Given the description of an element on the screen output the (x, y) to click on. 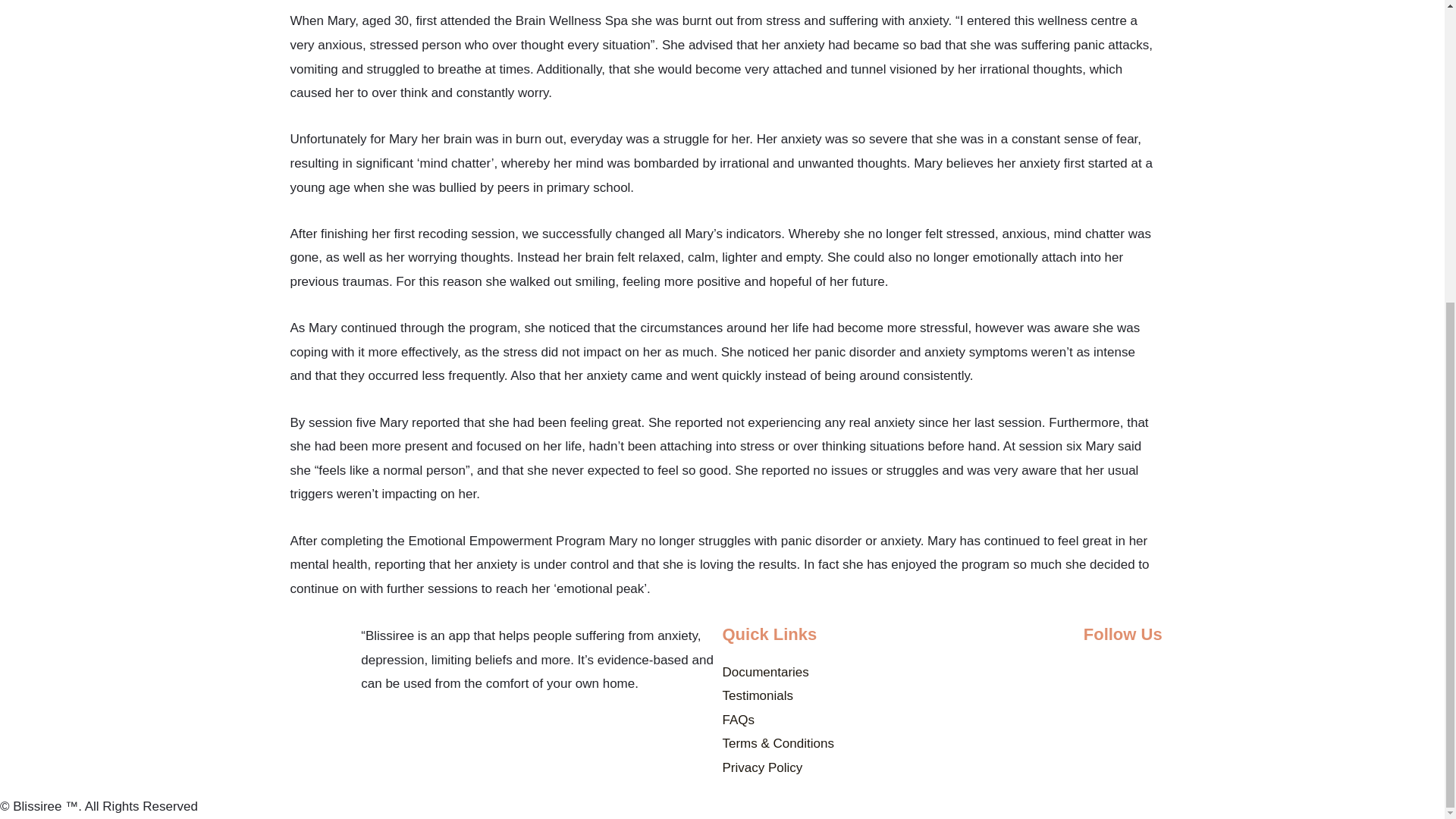
Testimonials (757, 695)
FAQs (738, 719)
Documentaries (765, 672)
Privacy Policy (762, 767)
